Given the description of an element on the screen output the (x, y) to click on. 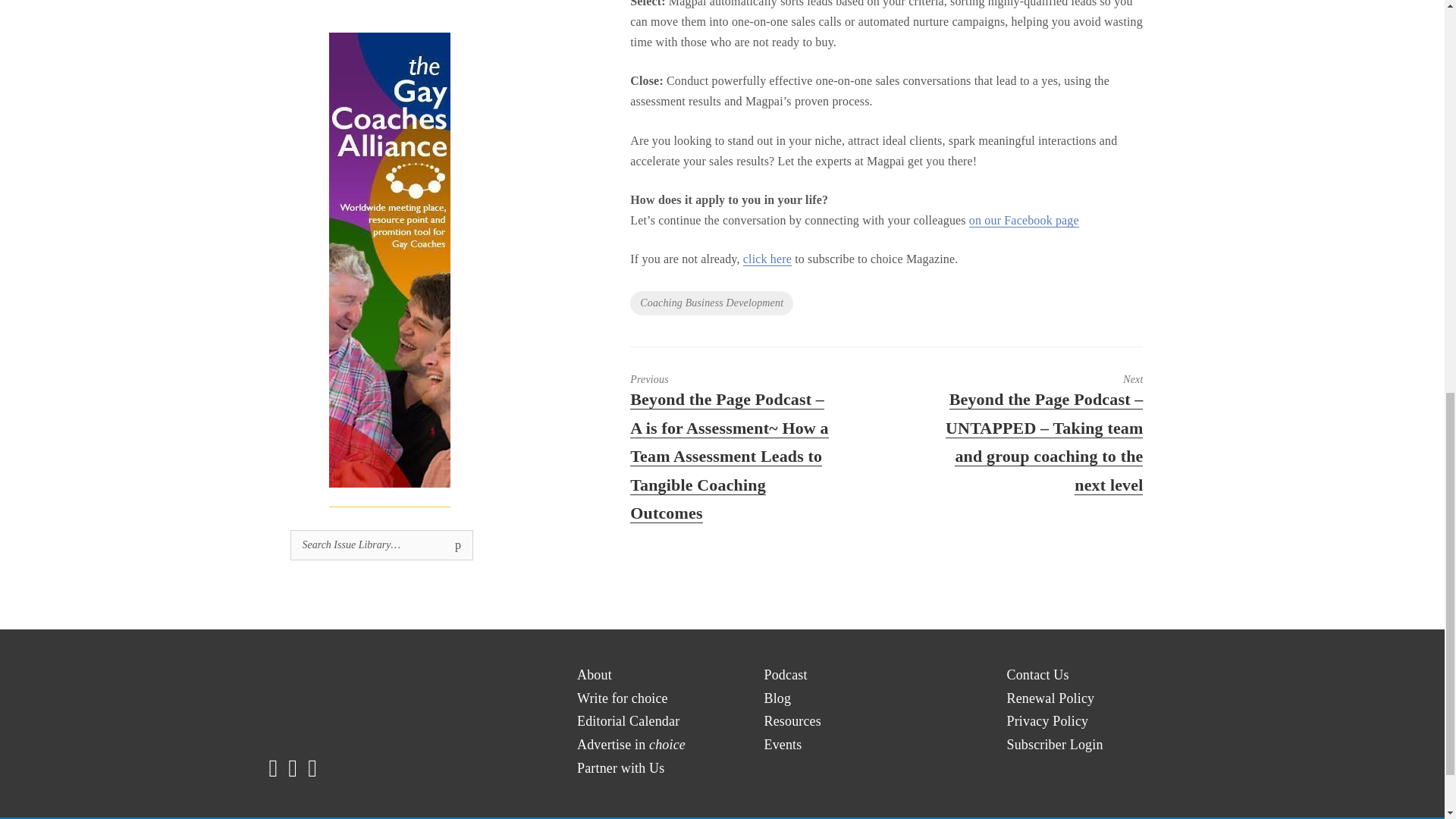
Search for: (381, 544)
on our Facebook page (1023, 220)
Advertise in choice (630, 744)
Blog (778, 698)
Editorial Calendar (627, 721)
Partner with Us (619, 768)
Coaching Business Development (711, 303)
About (593, 675)
Podcast (786, 675)
Write for choice (622, 698)
